Given the description of an element on the screen output the (x, y) to click on. 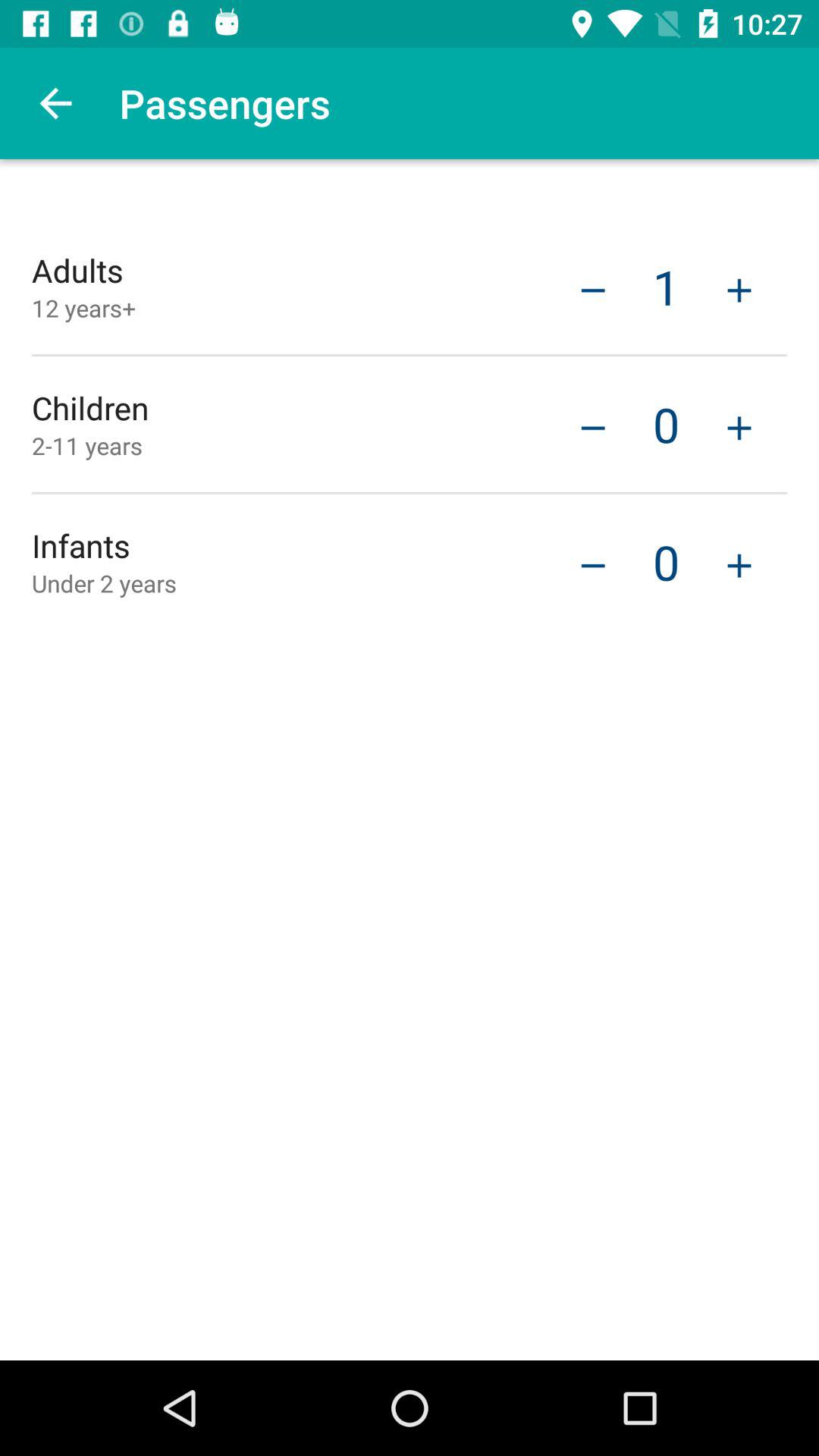
minus click (592, 426)
